Given the description of an element on the screen output the (x, y) to click on. 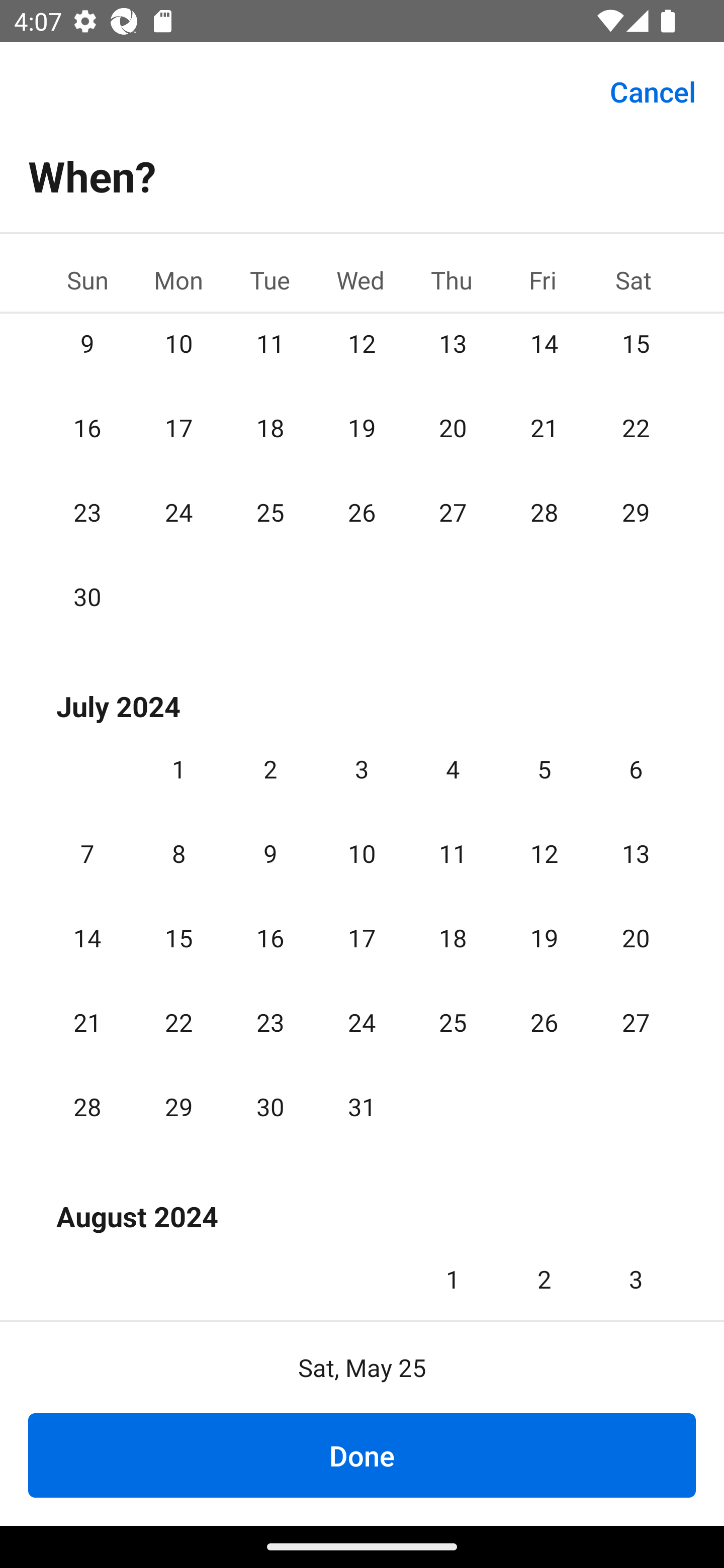
Cancel (652, 90)
Done (361, 1454)
